Given the description of an element on the screen output the (x, y) to click on. 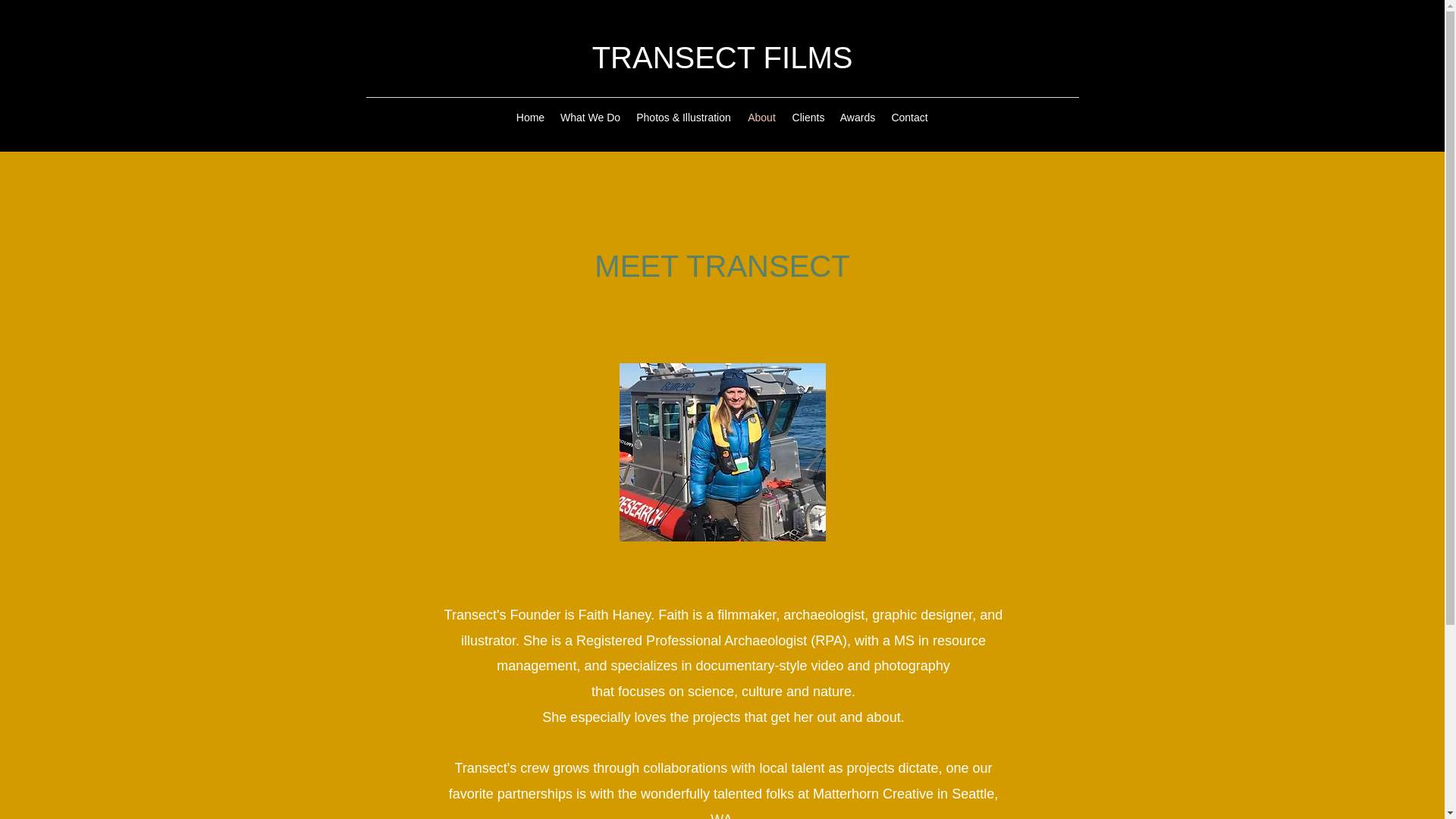
Awards (857, 117)
What We Do (589, 117)
About (761, 117)
Home (529, 117)
Contact (909, 117)
Clients (807, 117)
